Given the description of an element on the screen output the (x, y) to click on. 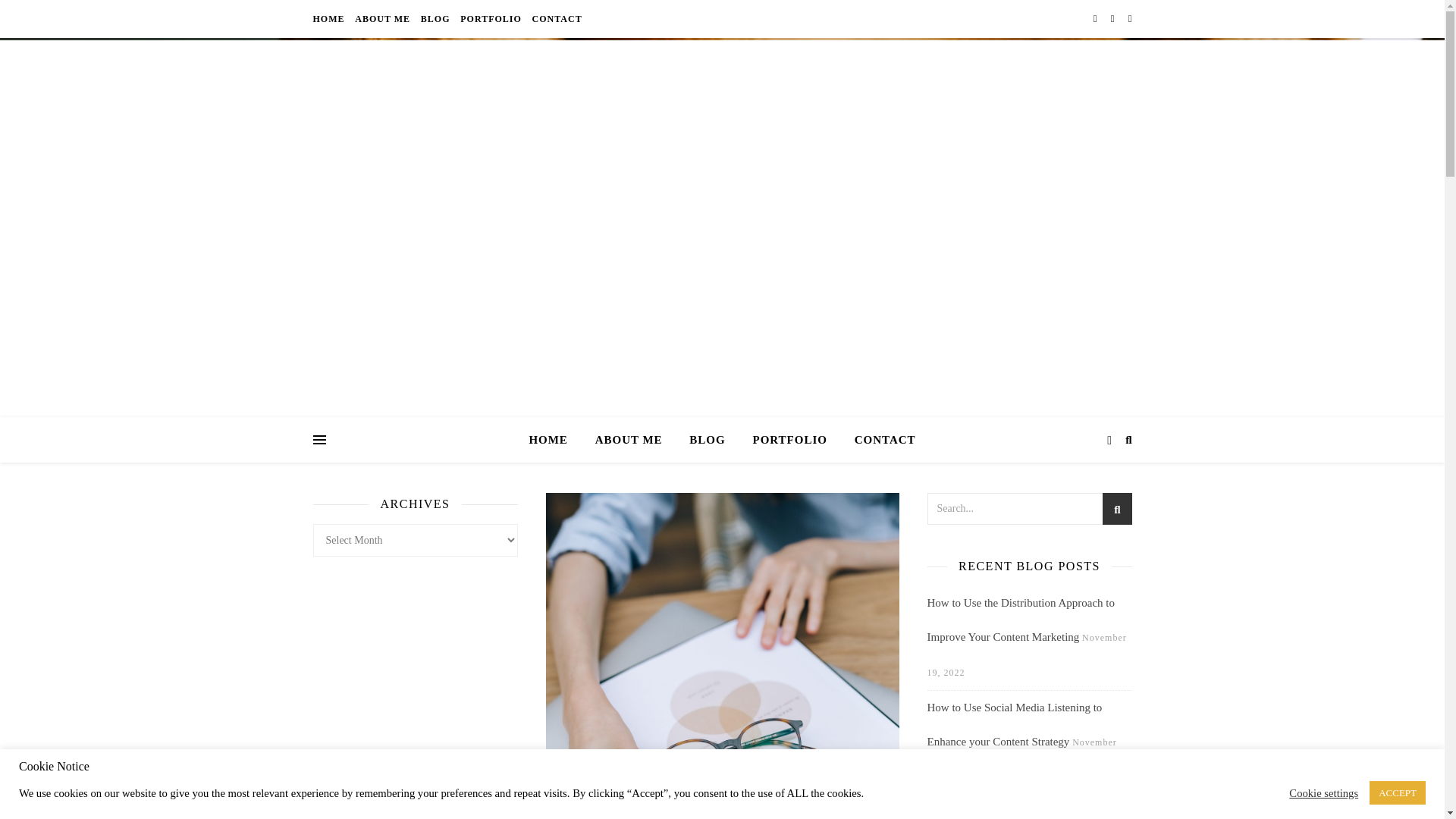
ABOUT ME (381, 18)
PORTFOLIO (788, 439)
HOME (330, 18)
BLOG (706, 439)
CONTACT (879, 439)
HOME (553, 439)
BLOG (435, 18)
ABOUT ME (629, 439)
PORTFOLIO (491, 18)
CONTACT (555, 18)
